Given the description of an element on the screen output the (x, y) to click on. 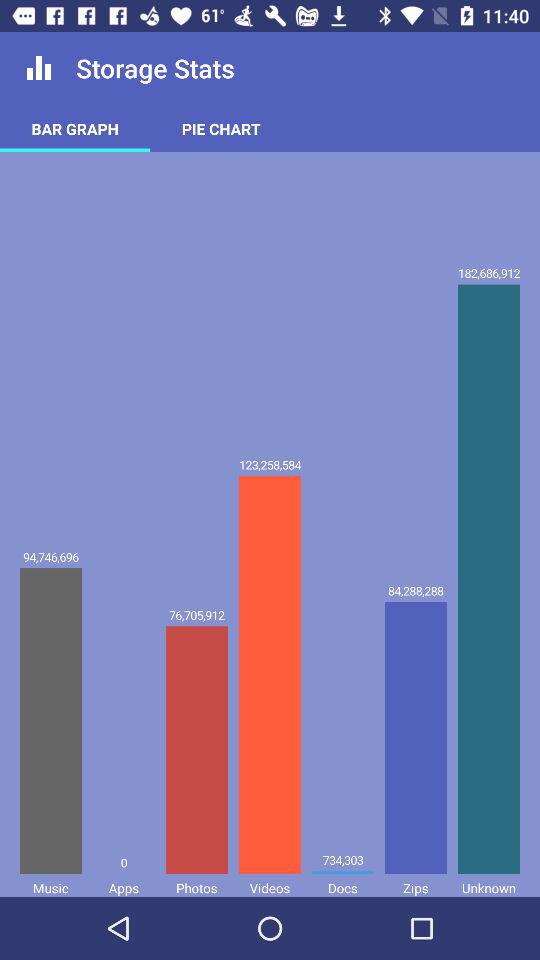
open item to the right of bar graph app (221, 128)
